Given the description of an element on the screen output the (x, y) to click on. 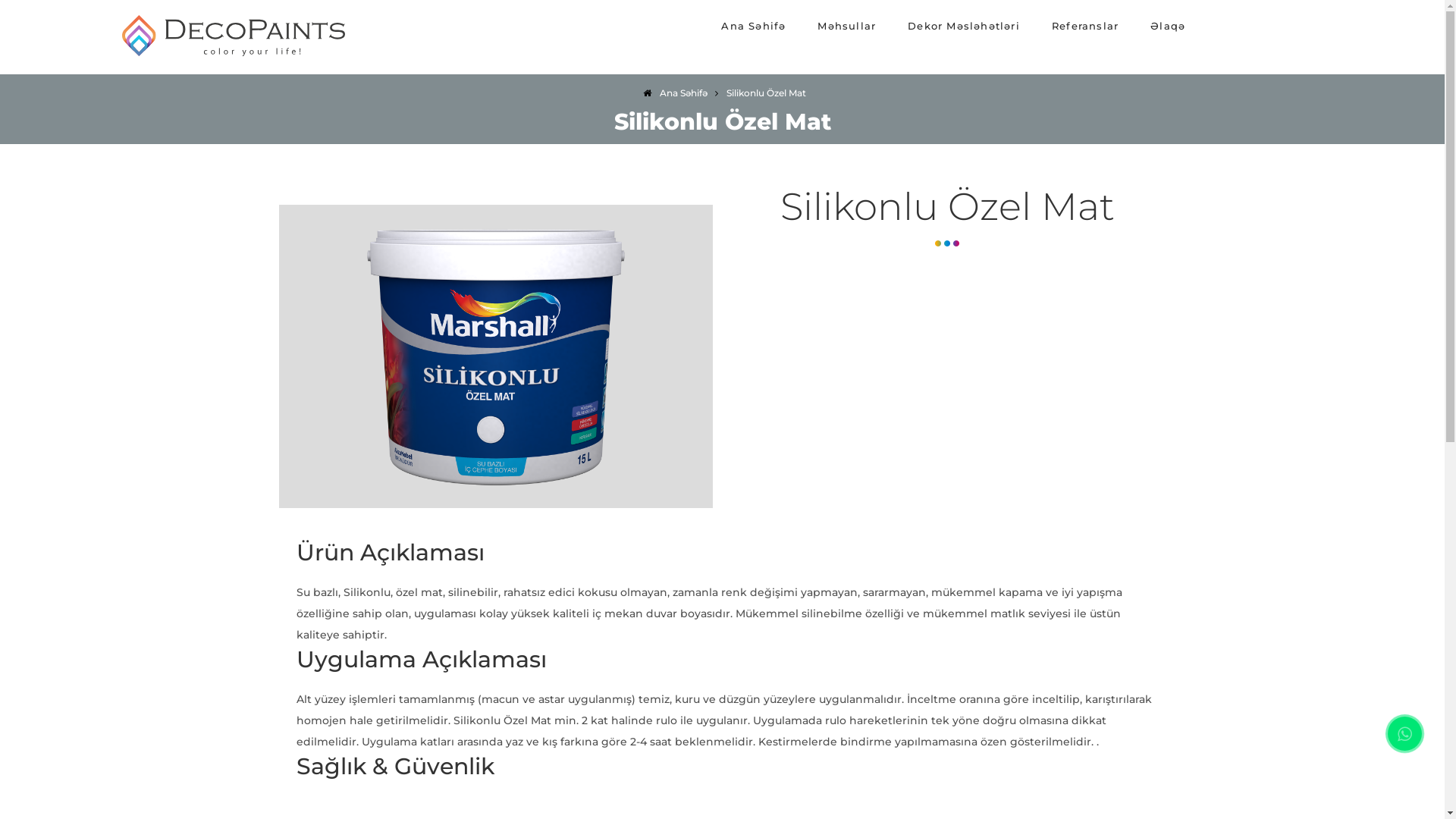
DecoPaints - Painting Company Element type: hover (231, 54)
Referanslar Element type: text (1084, 26)
